Given the description of an element on the screen output the (x, y) to click on. 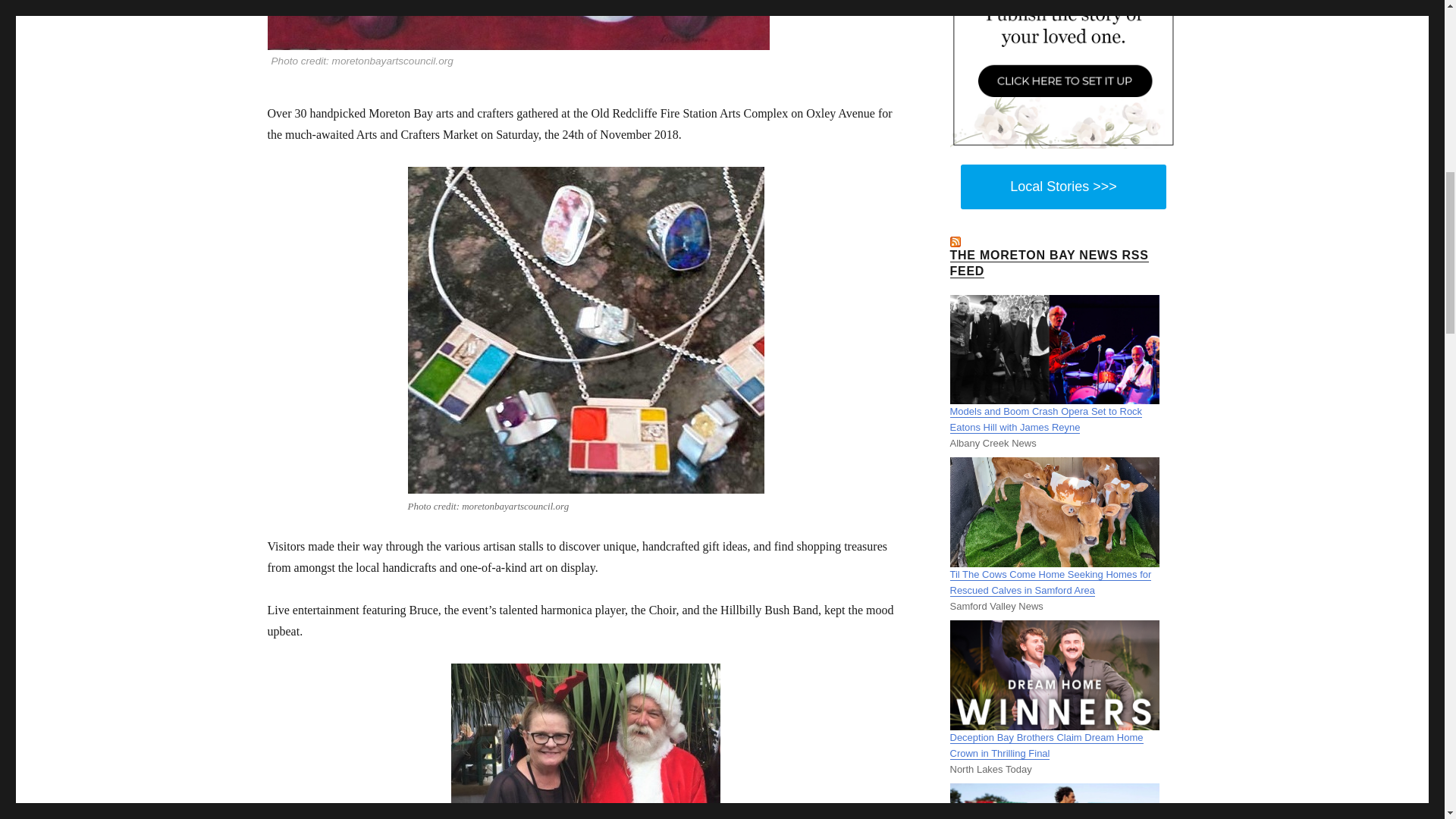
THE MORETON BAY NEWS RSS FEED (1048, 262)
Photo credit: moretonbayartscouncil.org (585, 35)
